Given the description of an element on the screen output the (x, y) to click on. 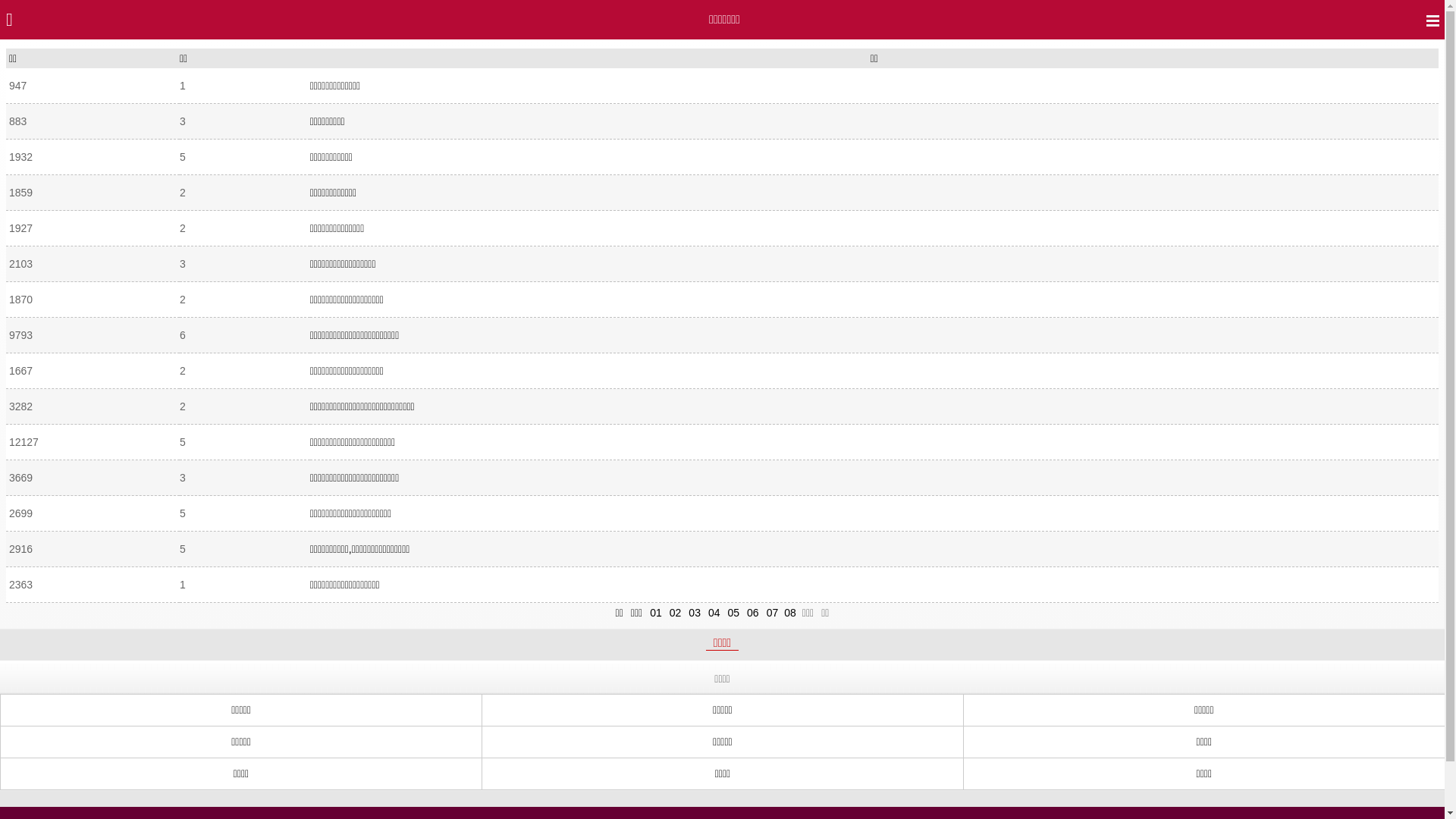
05 Element type: text (734, 612)
02 Element type: text (675, 612)
06 Element type: text (752, 612)
01 Element type: text (655, 612)
04 Element type: text (714, 612)
03 Element type: text (694, 612)
07 Element type: text (772, 612)
